Given the description of an element on the screen output the (x, y) to click on. 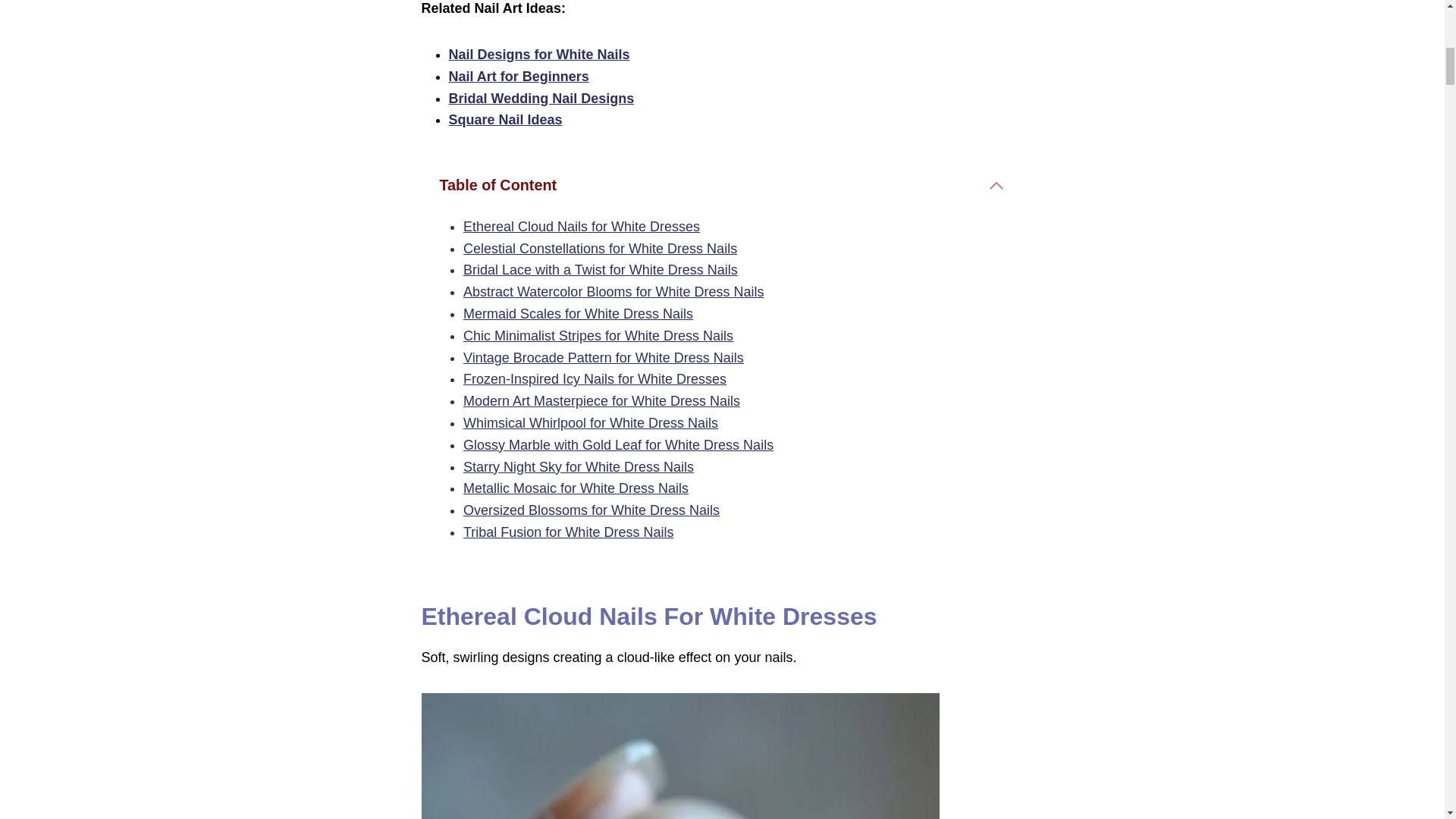
Celestial Constellations for White Dress Nails (599, 248)
Tribal Fusion for White Dress Nails (567, 531)
Metallic Mosaic for White Dress Nails (575, 488)
Bridal Lace with a Twist for White Dress Nails (600, 269)
Modern Art Masterpiece for White Dress Nails (601, 400)
Nail Designs for White Nails (539, 54)
Square Nail Ideas (505, 119)
Whimsical Whirlpool for White Dress Nails (590, 422)
Starry Night Sky for White Dress Nails (578, 467)
Nail Art for Beginners (518, 76)
